Given the description of an element on the screen output the (x, y) to click on. 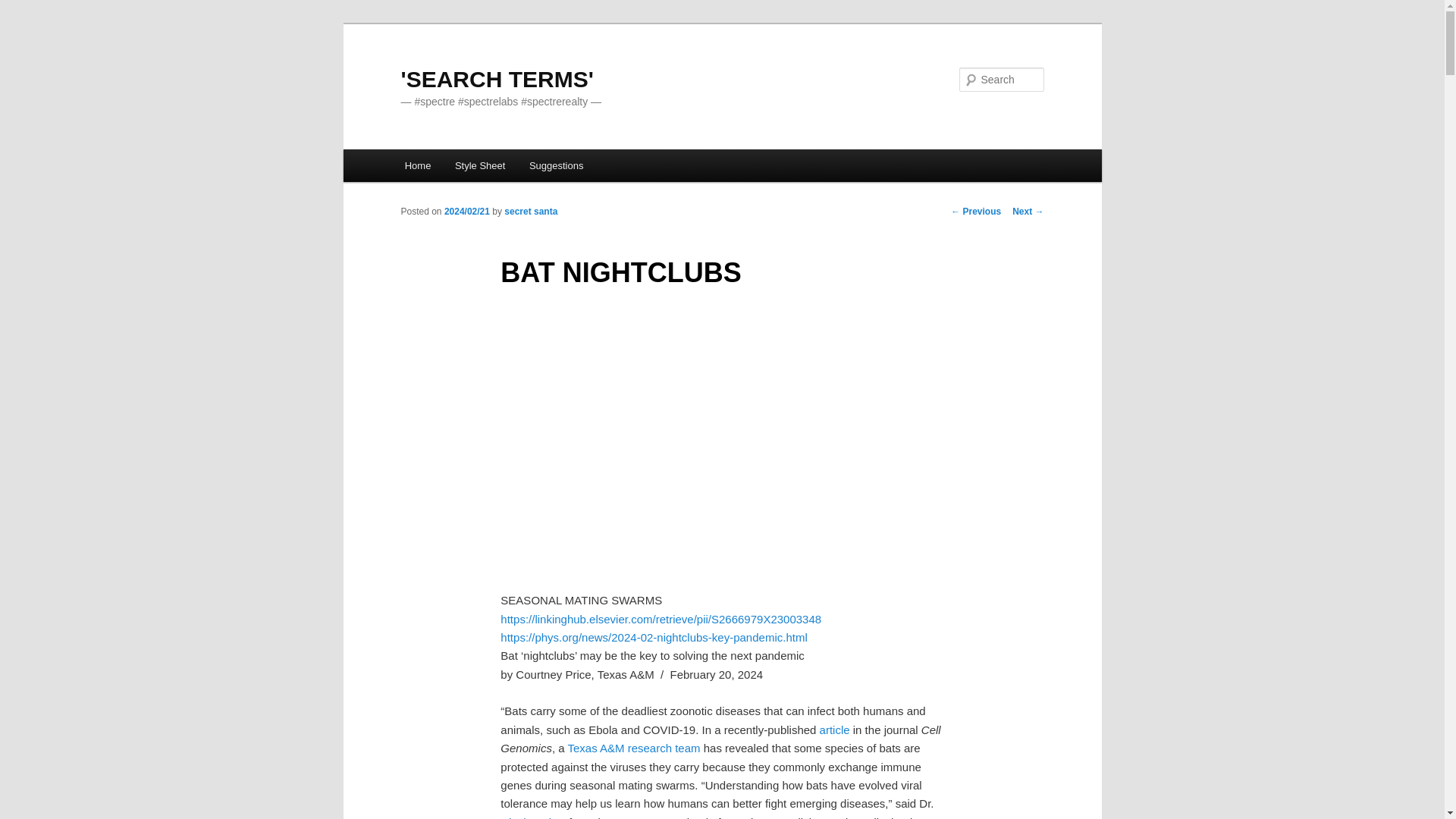
'SEARCH TERMS' (496, 78)
Nicole Foley (531, 817)
Style Sheet (479, 165)
Style Sheet (479, 165)
Suggestions (555, 165)
4:40 pm (466, 211)
Home (417, 165)
View all posts by secret santa (530, 211)
Bats and Bauhaus (721, 442)
secret santa (530, 211)
Suggestions (555, 165)
Search (24, 8)
article (834, 729)
